Given the description of an element on the screen output the (x, y) to click on. 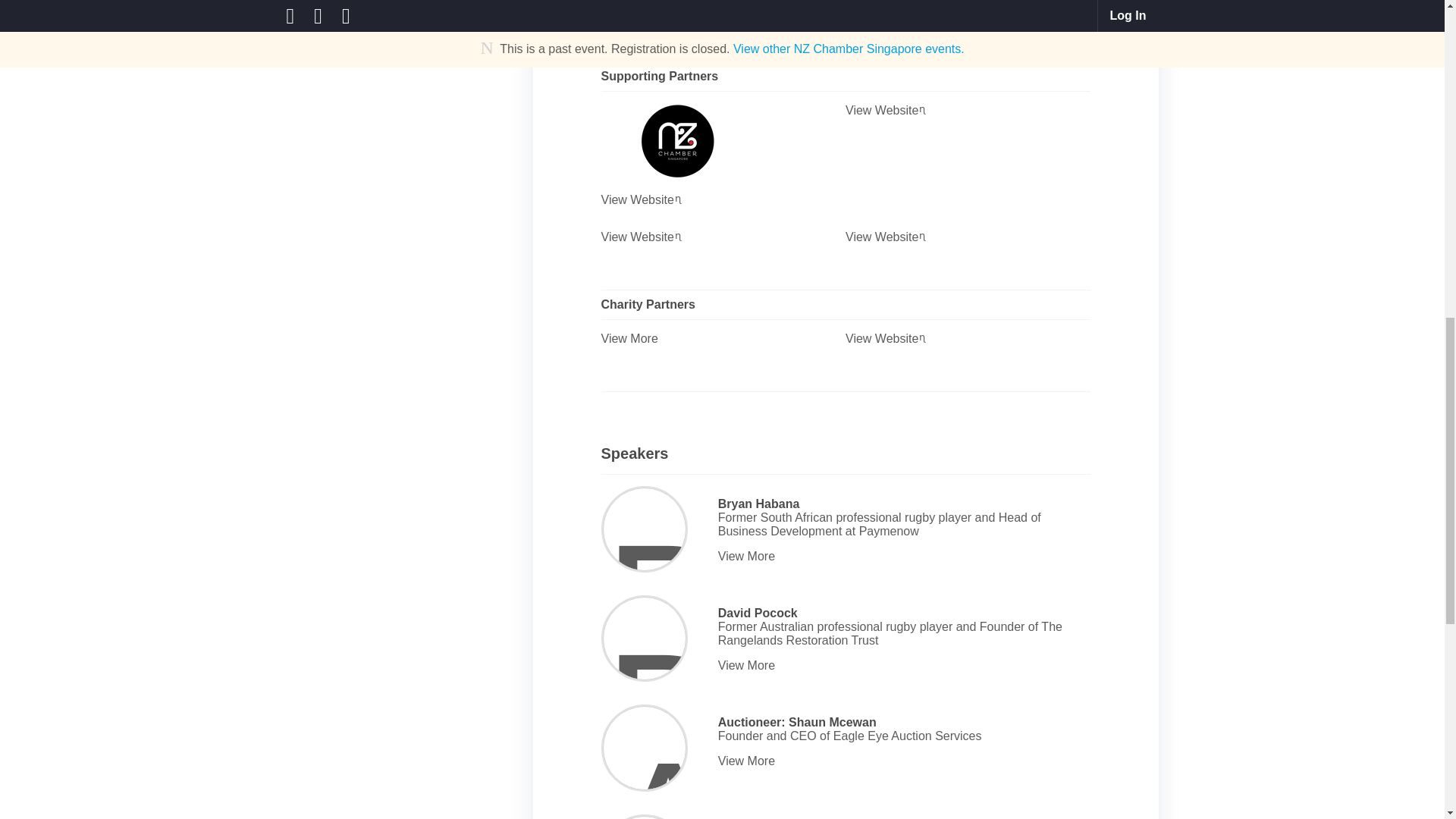
View Website (722, 237)
Open in new tab (923, 235)
View Website (967, 8)
View Website (722, 8)
Open in new tab (923, 8)
View Website (967, 338)
View More (722, 338)
Open in new tab (679, 235)
View Website (967, 110)
View More (900, 556)
